Given the description of an element on the screen output the (x, y) to click on. 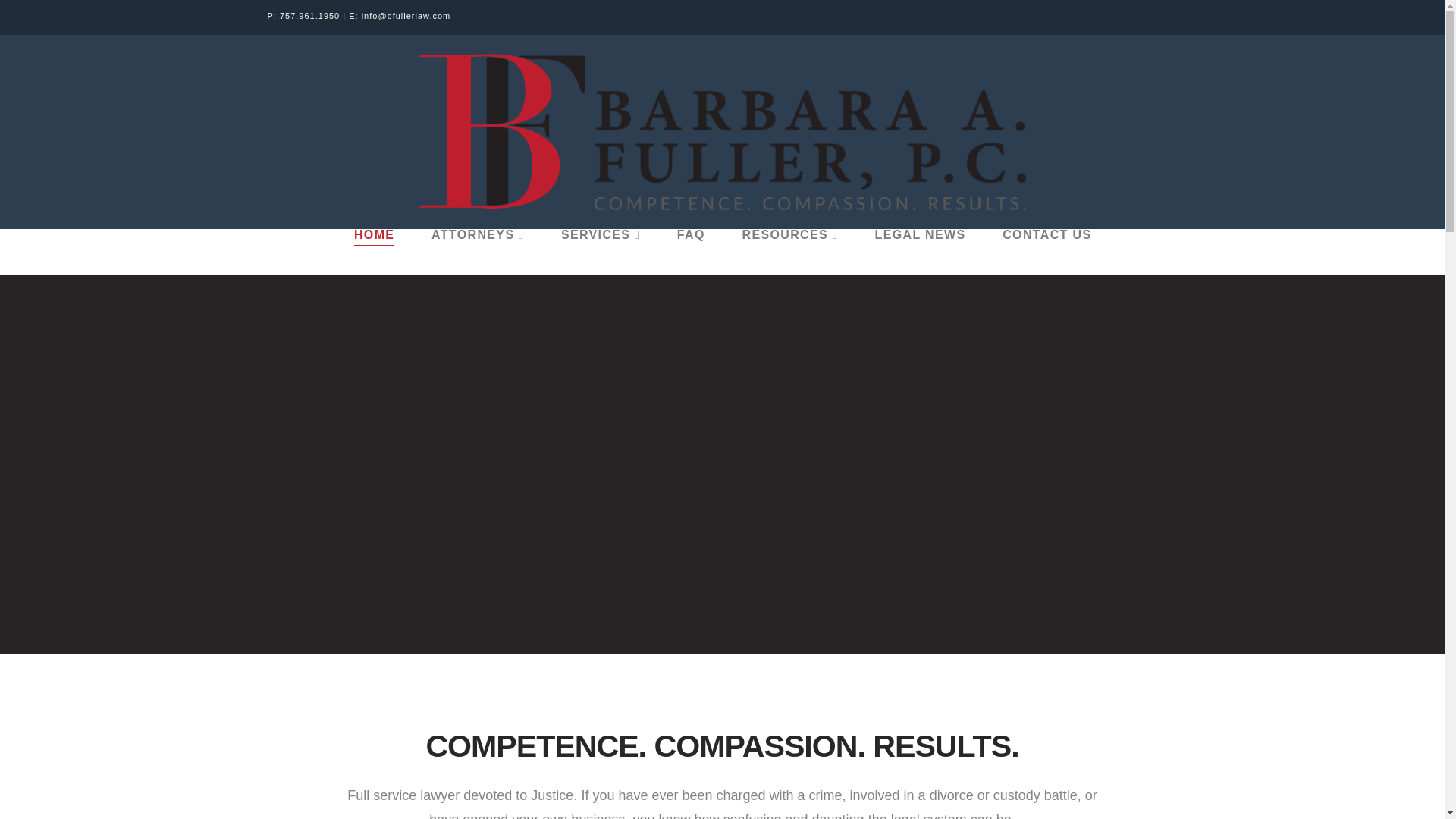
LEGAL NEWS (920, 251)
CONTACT US (1046, 251)
757.961.1950 (309, 15)
FAQ (690, 251)
ATTORNEYS (476, 251)
SERVICES (599, 251)
Attorney at Law (722, 131)
HOME (373, 251)
RESOURCES (789, 251)
